Given the description of an element on the screen output the (x, y) to click on. 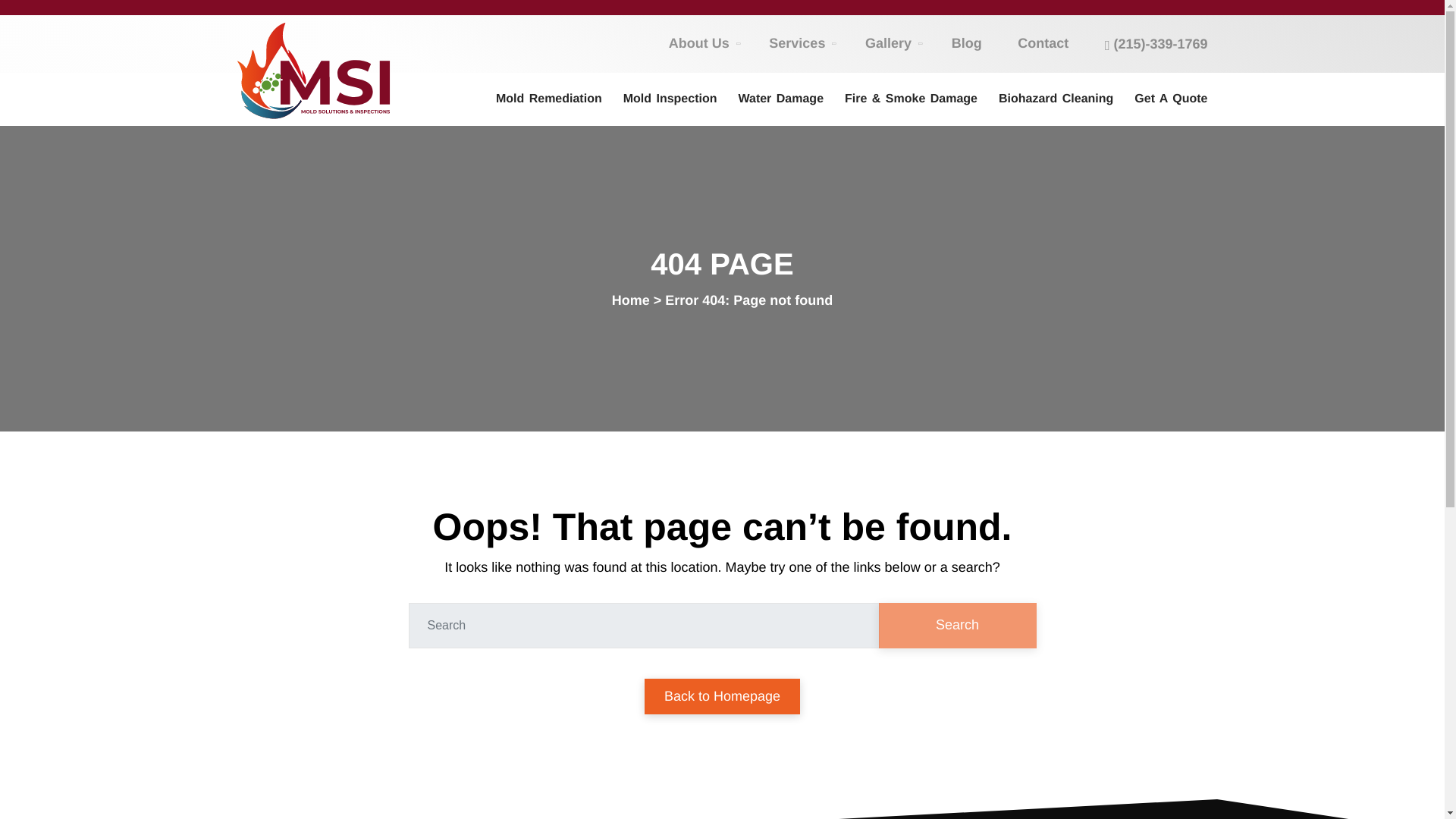
Search (956, 624)
About Us (700, 43)
